Given the description of an element on the screen output the (x, y) to click on. 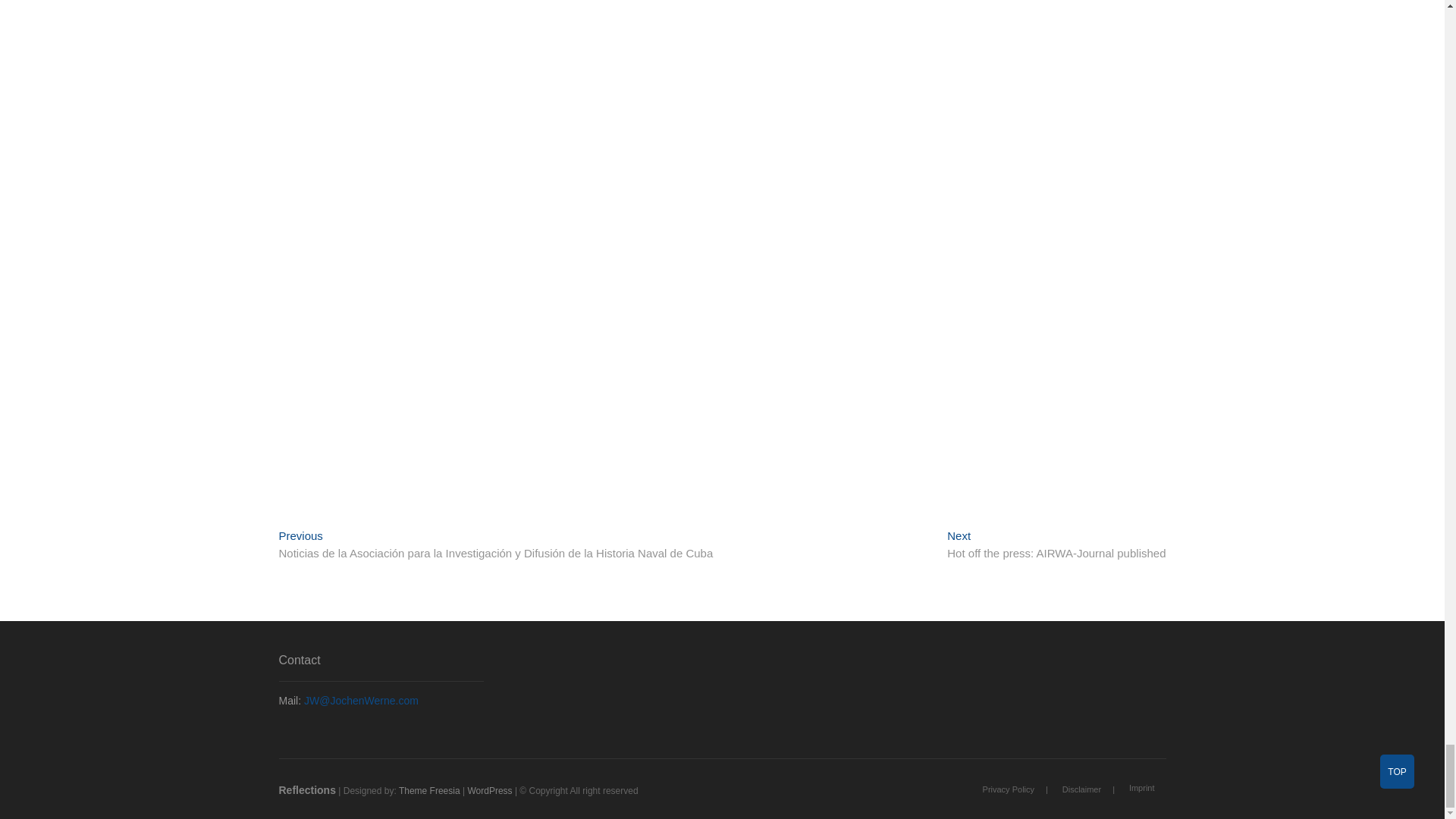
WordPress (489, 790)
Reflections (307, 789)
Theme Freesia (429, 790)
